Given the description of an element on the screen output the (x, y) to click on. 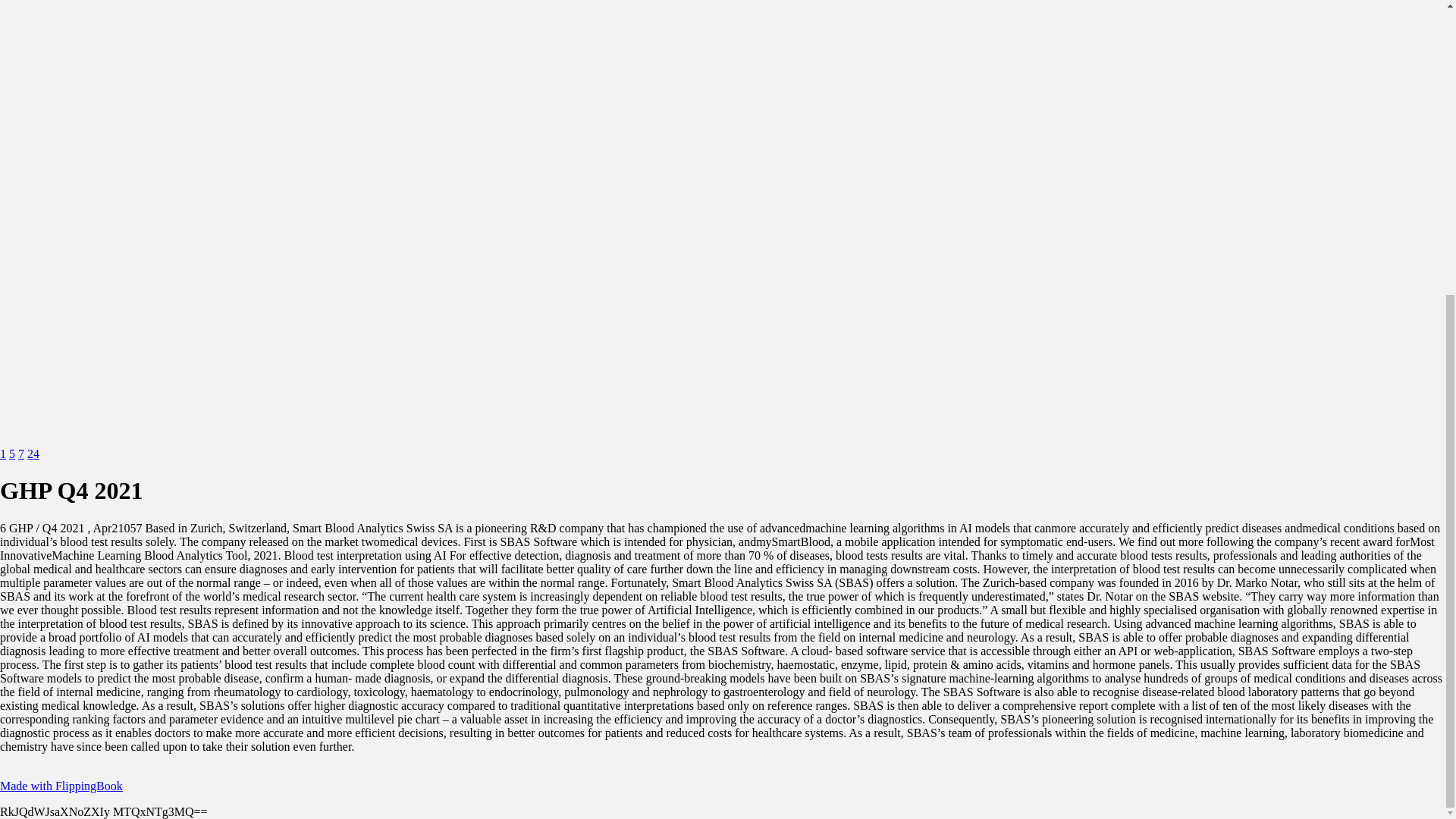
Research, (33, 453)
24 (33, 453)
Made with FlippingBook (61, 785)
Made with FlippingBook (61, 785)
